Given the description of an element on the screen output the (x, y) to click on. 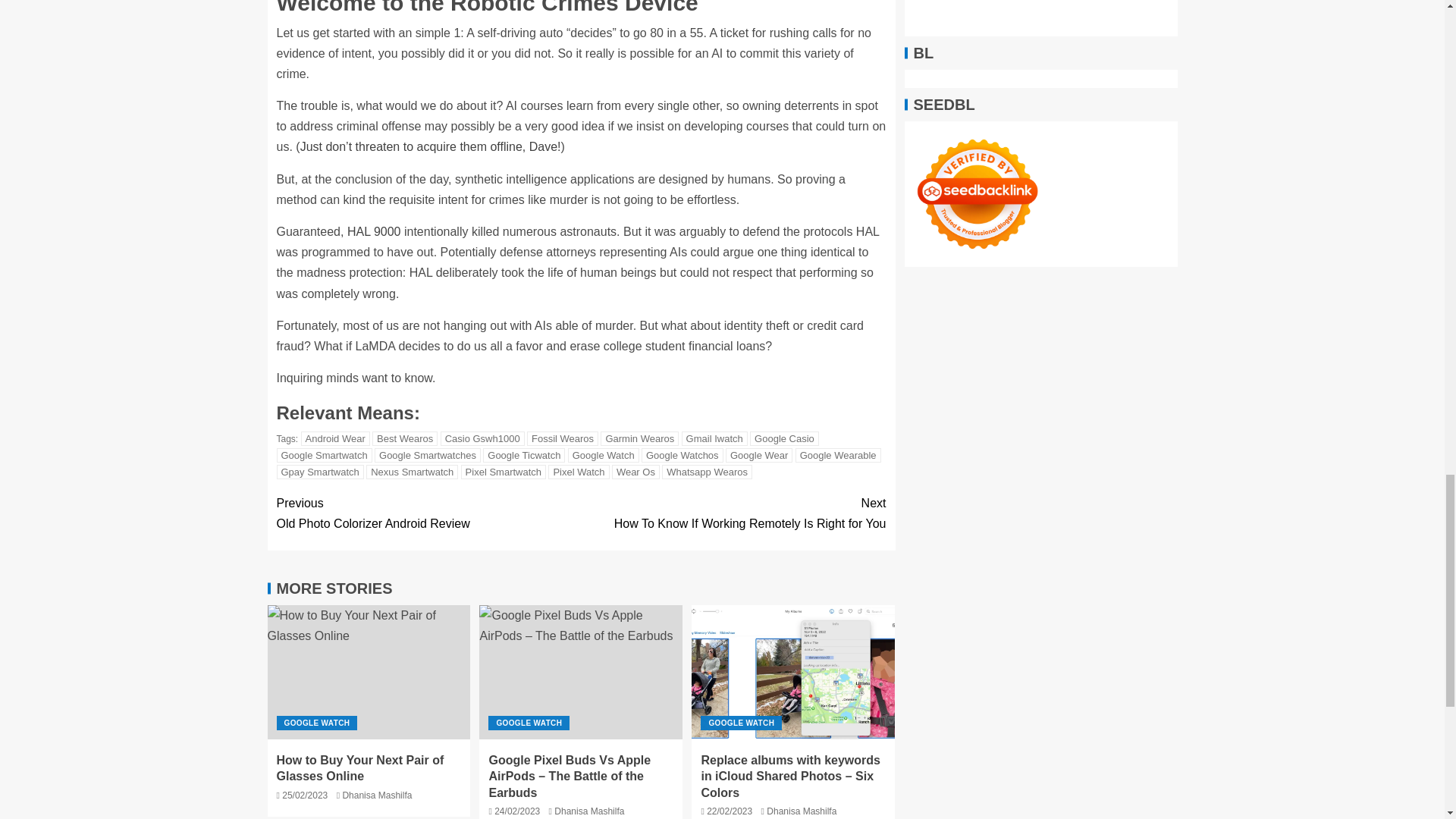
Gmail Iwatch (714, 438)
Android Wear (335, 438)
Best Wearos (405, 438)
How to Buy Your Next Pair of Glasses Online (368, 672)
Garmin Wearos (638, 438)
Casio Gswh1000 (482, 438)
Fossil Wearos (562, 438)
HAL 9000 (374, 231)
